Given the description of an element on the screen output the (x, y) to click on. 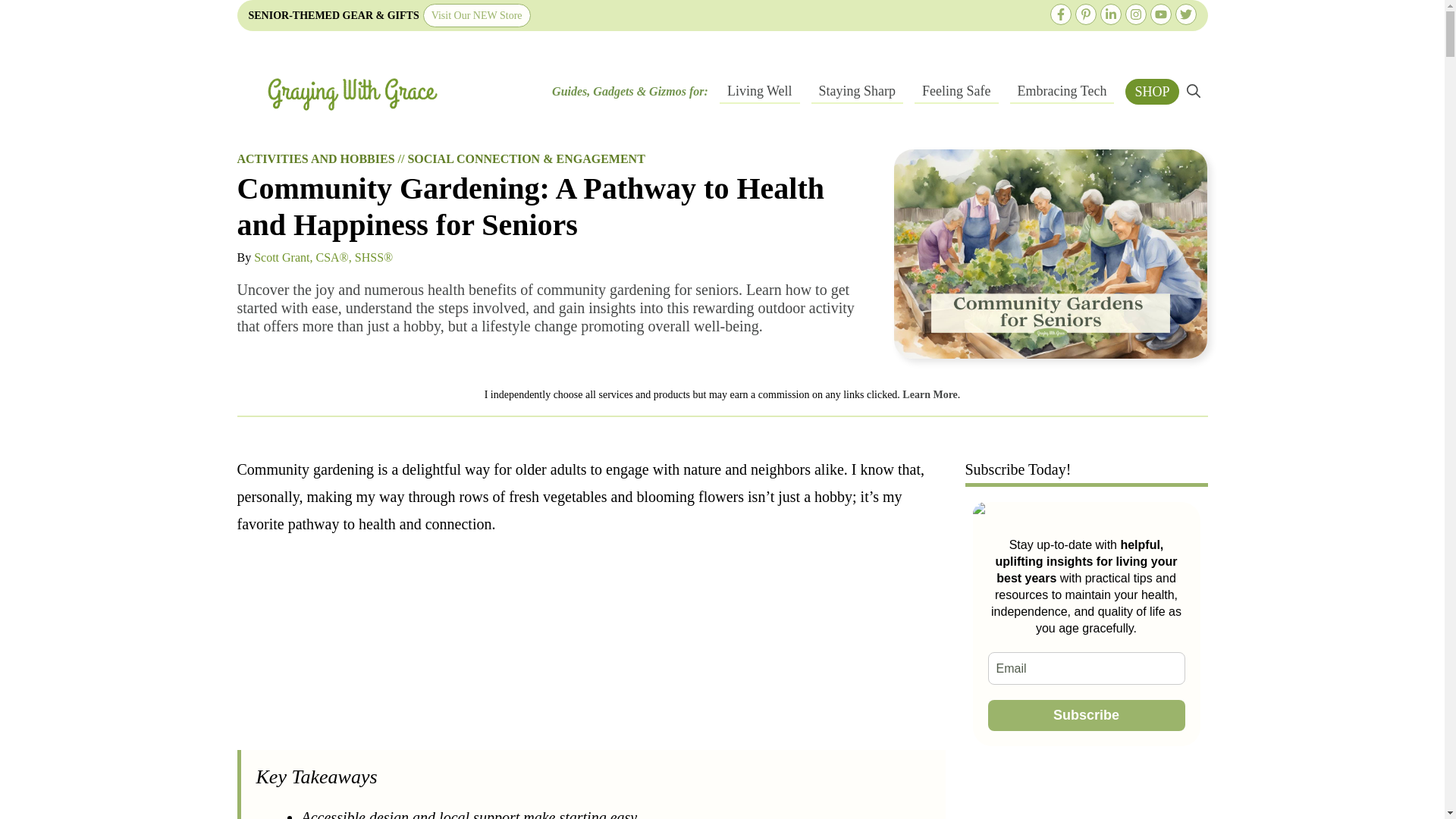
Visit Our NEW Store (477, 15)
Embracing Tech (1062, 91)
ACTIVITIES AND HOBBIES (314, 158)
Learn More (929, 394)
Feeling Safe (955, 91)
SHOP (1151, 91)
Staying Sharp (857, 91)
Living Well (759, 91)
